Given the description of an element on the screen output the (x, y) to click on. 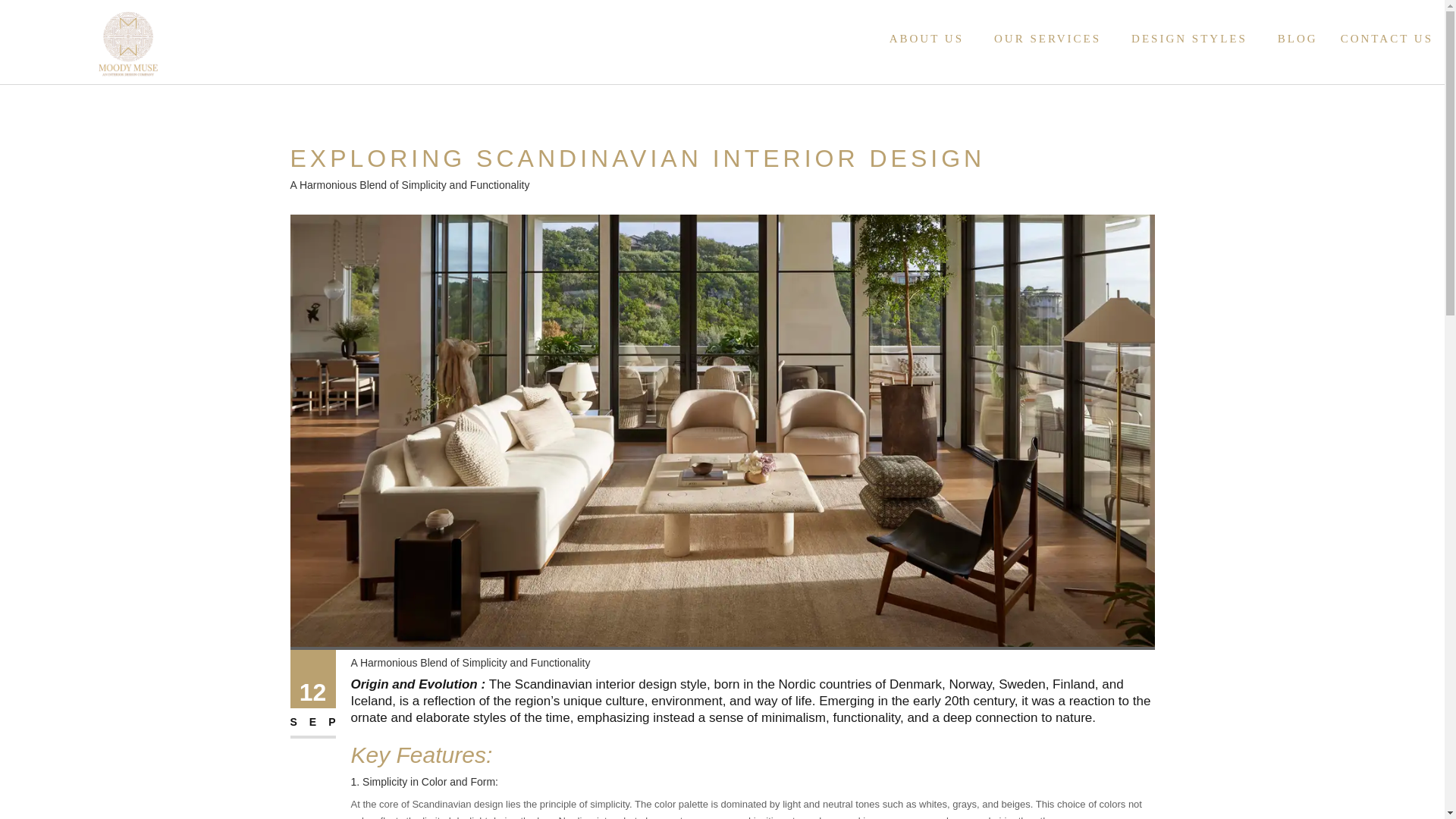
Blog (1289, 37)
ABOUT US (918, 37)
CONTACT US (1378, 37)
About Us (918, 37)
Contact Us (1378, 37)
DESIGN STYLES (1181, 37)
BLOG (1289, 37)
Our Services (1039, 37)
Design Styles (1181, 37)
OUR SERVICES (1039, 37)
